Given the description of an element on the screen output the (x, y) to click on. 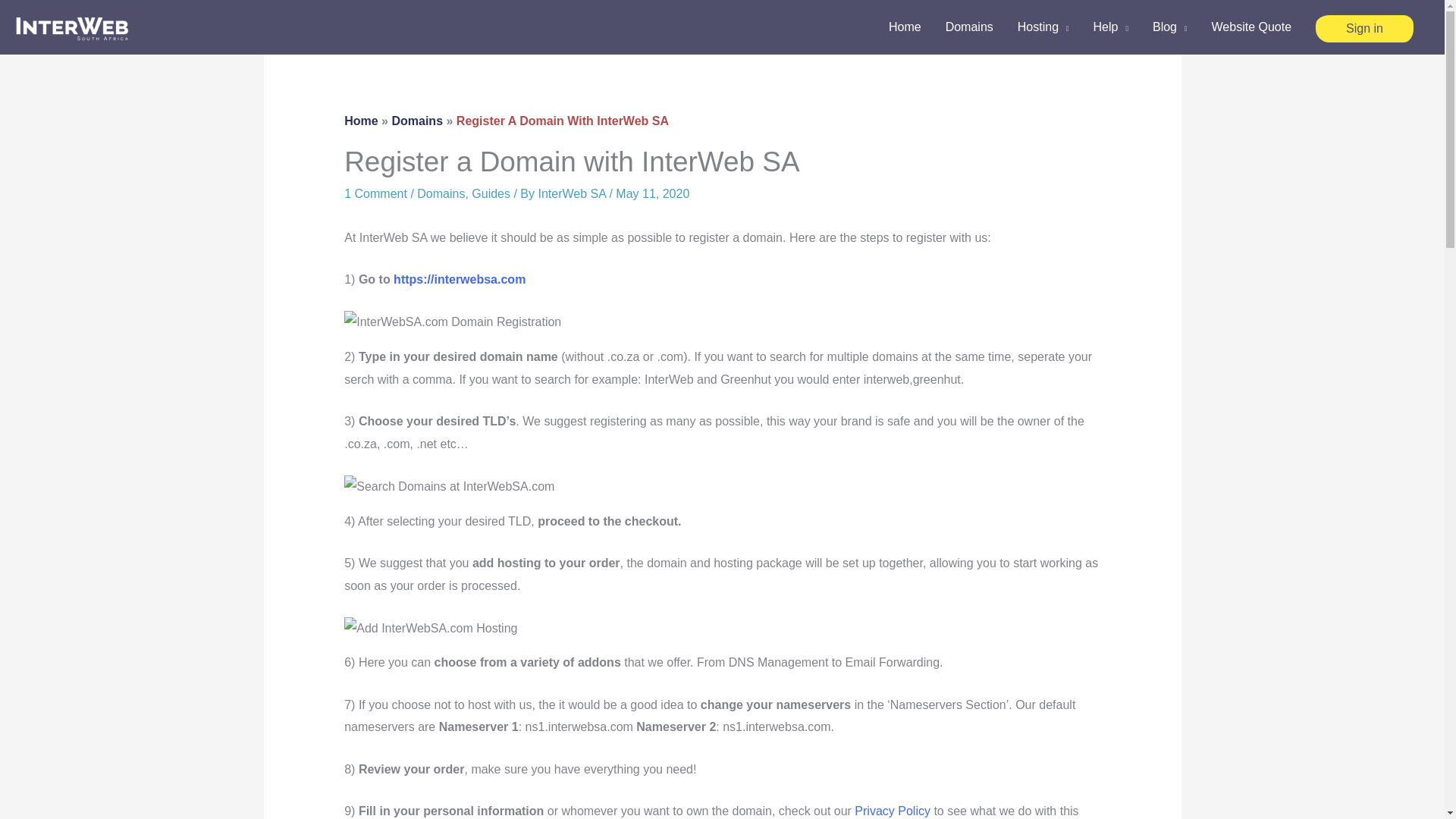
Domains (440, 192)
Home (360, 120)
Domains (969, 27)
Domains (416, 120)
View all posts by InterWeb SA (572, 192)
Website Quote (1251, 27)
Help (1110, 27)
InterWeb SA (572, 192)
Guides (491, 192)
Blog (1169, 27)
